Given the description of an element on the screen output the (x, y) to click on. 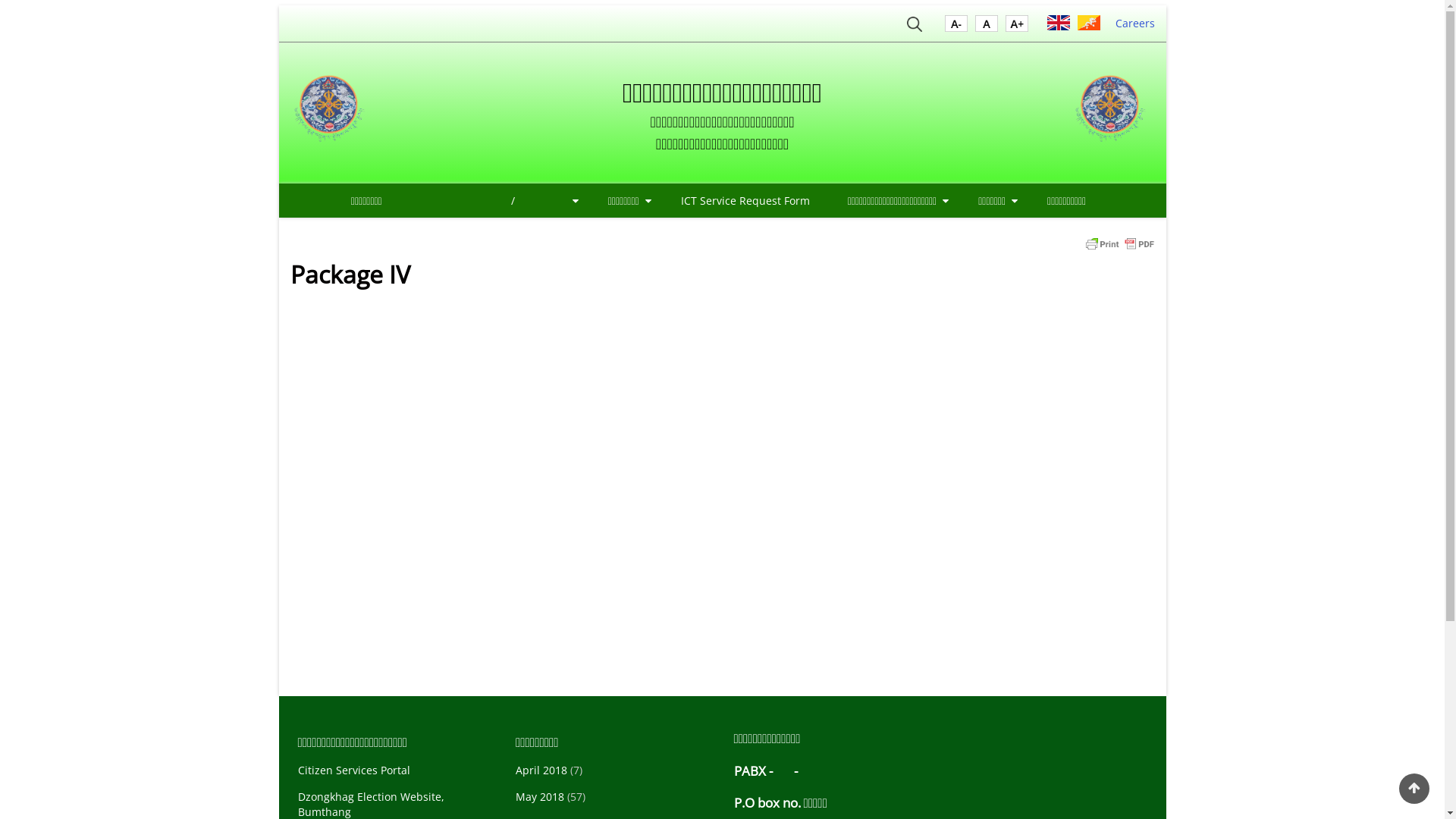
A Element type: text (955, 26)
April 2018 Element type: text (541, 769)
Careers Element type: text (1134, 22)
May 2018 Element type: text (539, 796)
Citizen Services Portal Element type: text (353, 769)
Home Element type: hover (1112, 112)
Printer Friendly, PDF & Email Element type: hover (1119, 242)
Search Element type: text (914, 26)
Skip to main content Element type: text (0, 0)
Home Element type: hover (331, 112)
ICT Service Request Form Element type: text (745, 200)
A Element type: text (1016, 26)
Back to Top Element type: hover (1414, 788)
A Element type: text (986, 26)
